Given the description of an element on the screen output the (x, y) to click on. 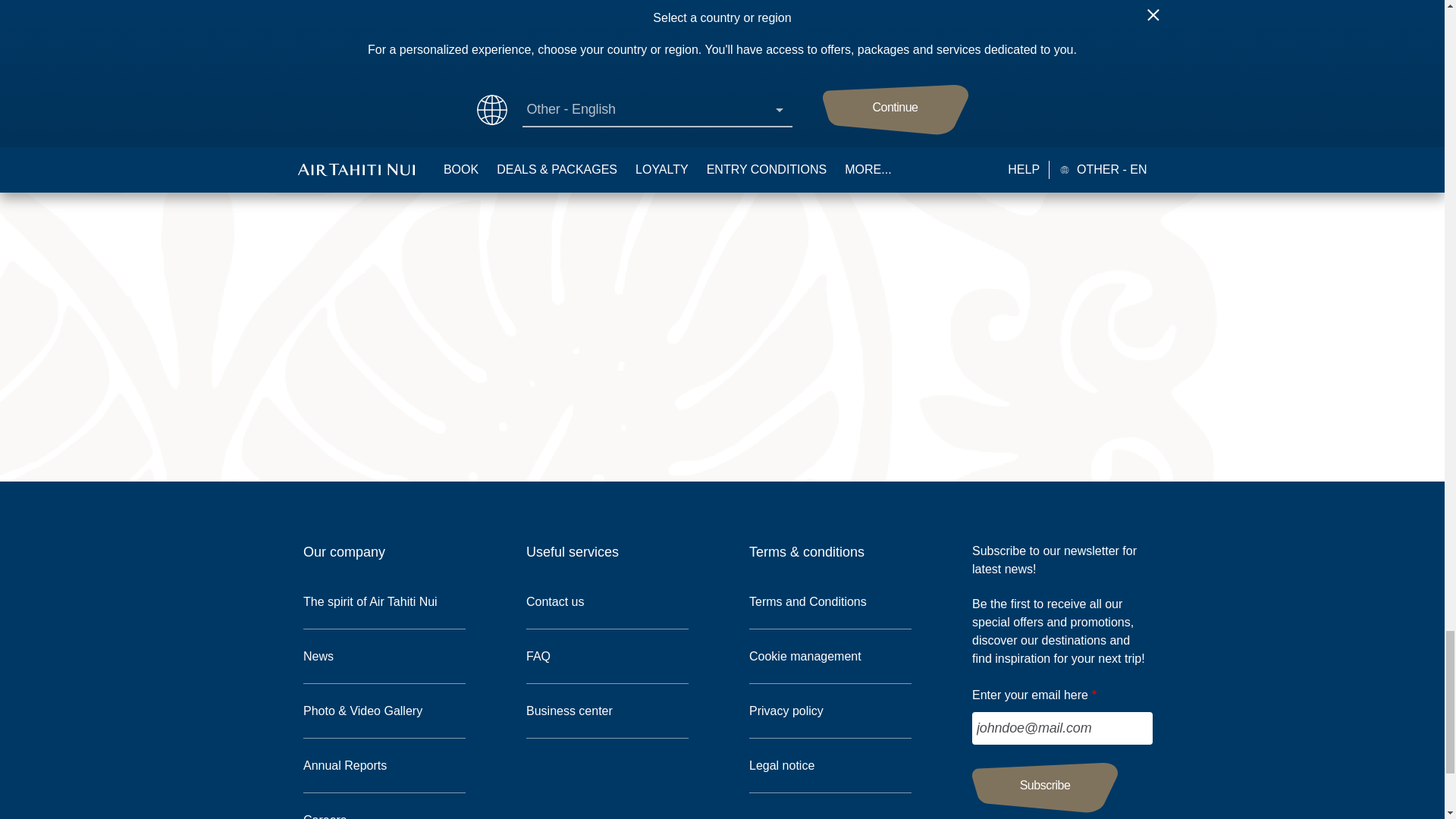
Subscribe (1045, 787)
